Given the description of an element on the screen output the (x, y) to click on. 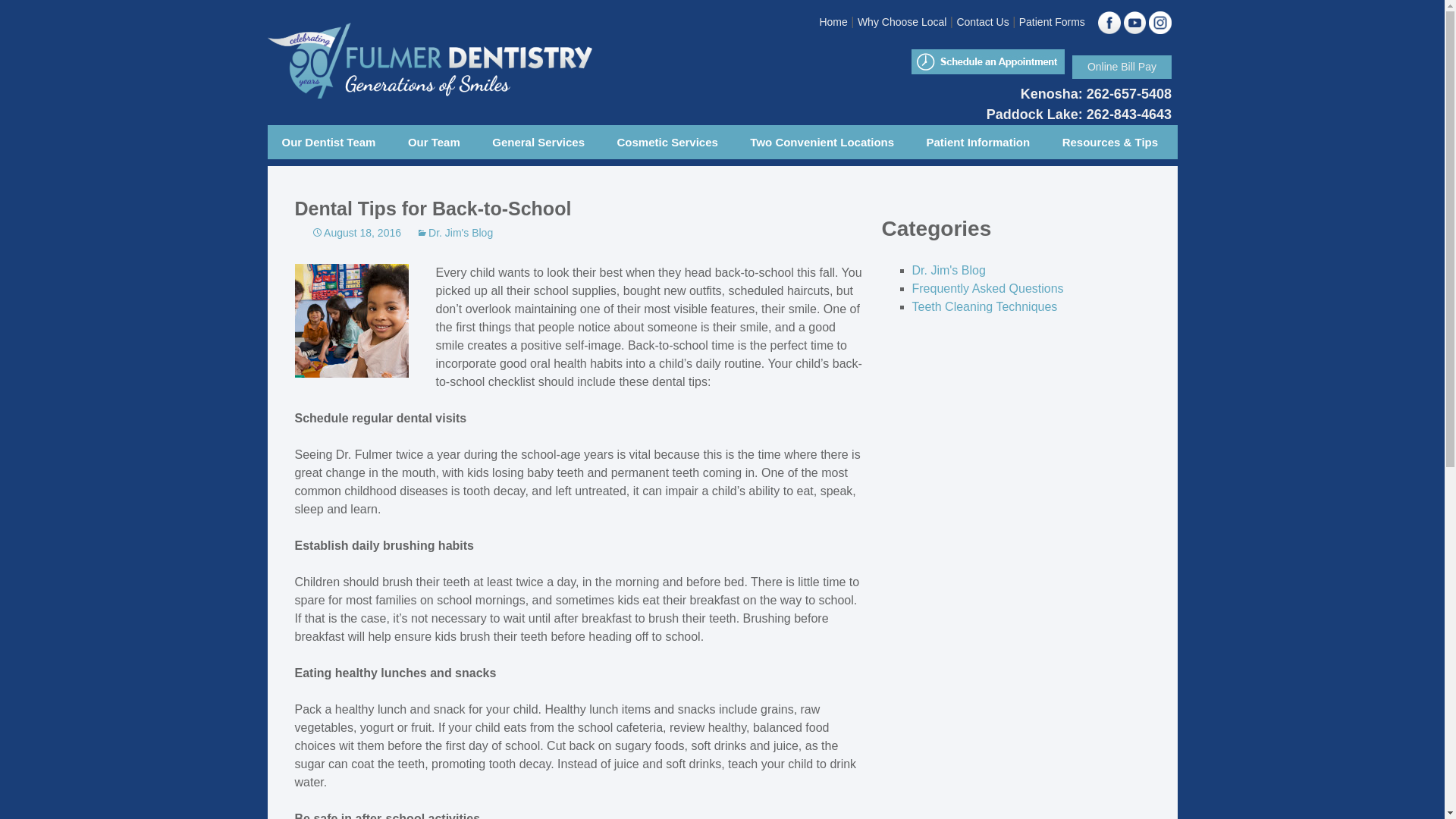
James C. Fulmer, DDS (340, 175)
Why Choose Local (902, 21)
Our Team (433, 141)
Patient Information (978, 141)
Fulmer Dentistry (494, 64)
Fulmer Dentistry (494, 64)
General Services (537, 141)
Our Dentist Team (328, 141)
Dr. Jim's Blog (454, 232)
Home (832, 21)
Contact Us (982, 21)
Kenosha Dentist: Fulmer Dentistry (809, 181)
Two Convenient Locations (821, 141)
